Given the description of an element on the screen output the (x, y) to click on. 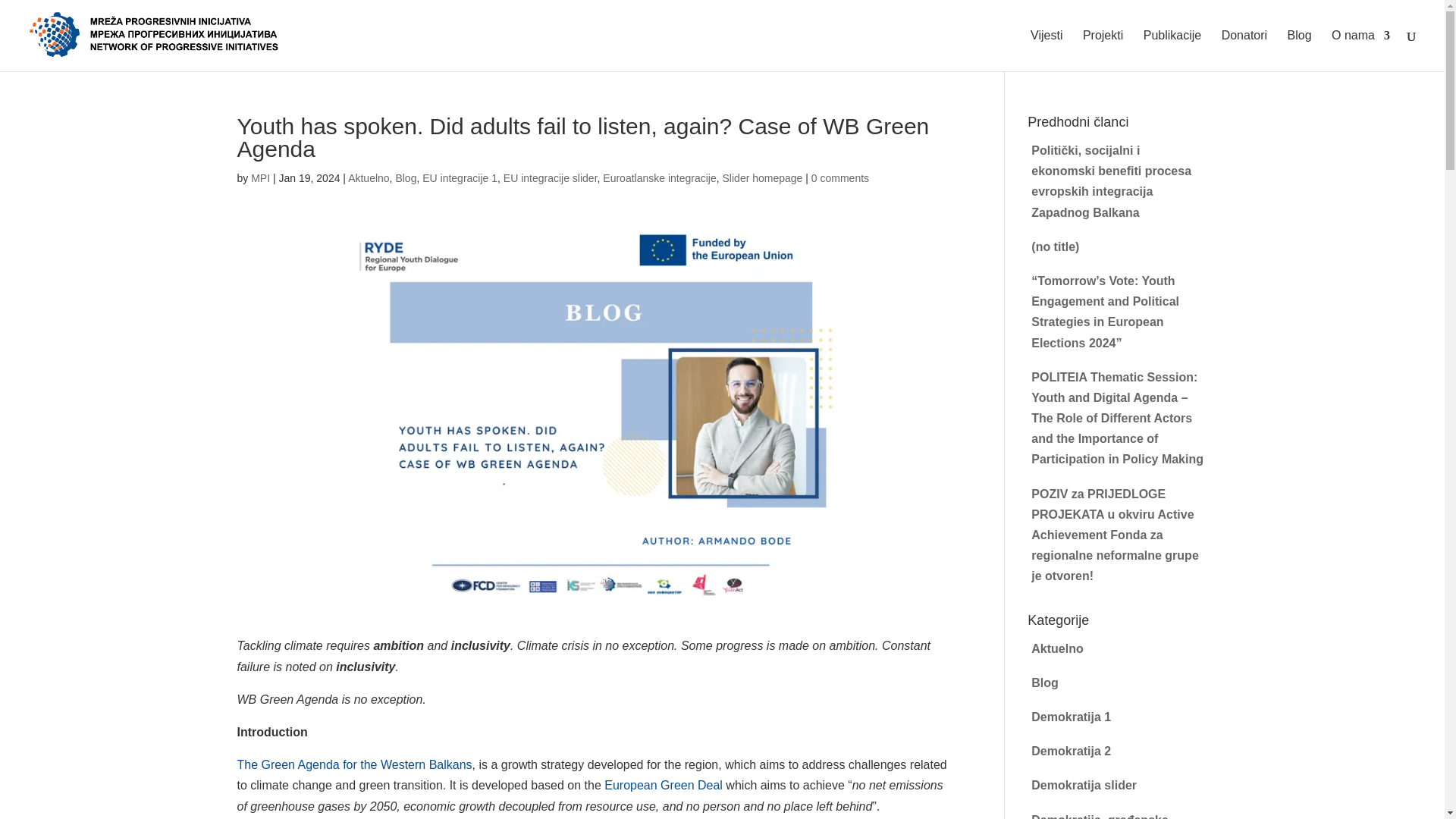
MPI (259, 177)
Slider homepage (762, 177)
European Green Deal (663, 784)
Donatori (1243, 50)
Publikacije (1171, 50)
Blog (405, 177)
The Green Agenda for the Western Balkans (353, 764)
Projekti (1102, 50)
EU integracije 1 (459, 177)
EU integracije slider (549, 177)
